Given the description of an element on the screen output the (x, y) to click on. 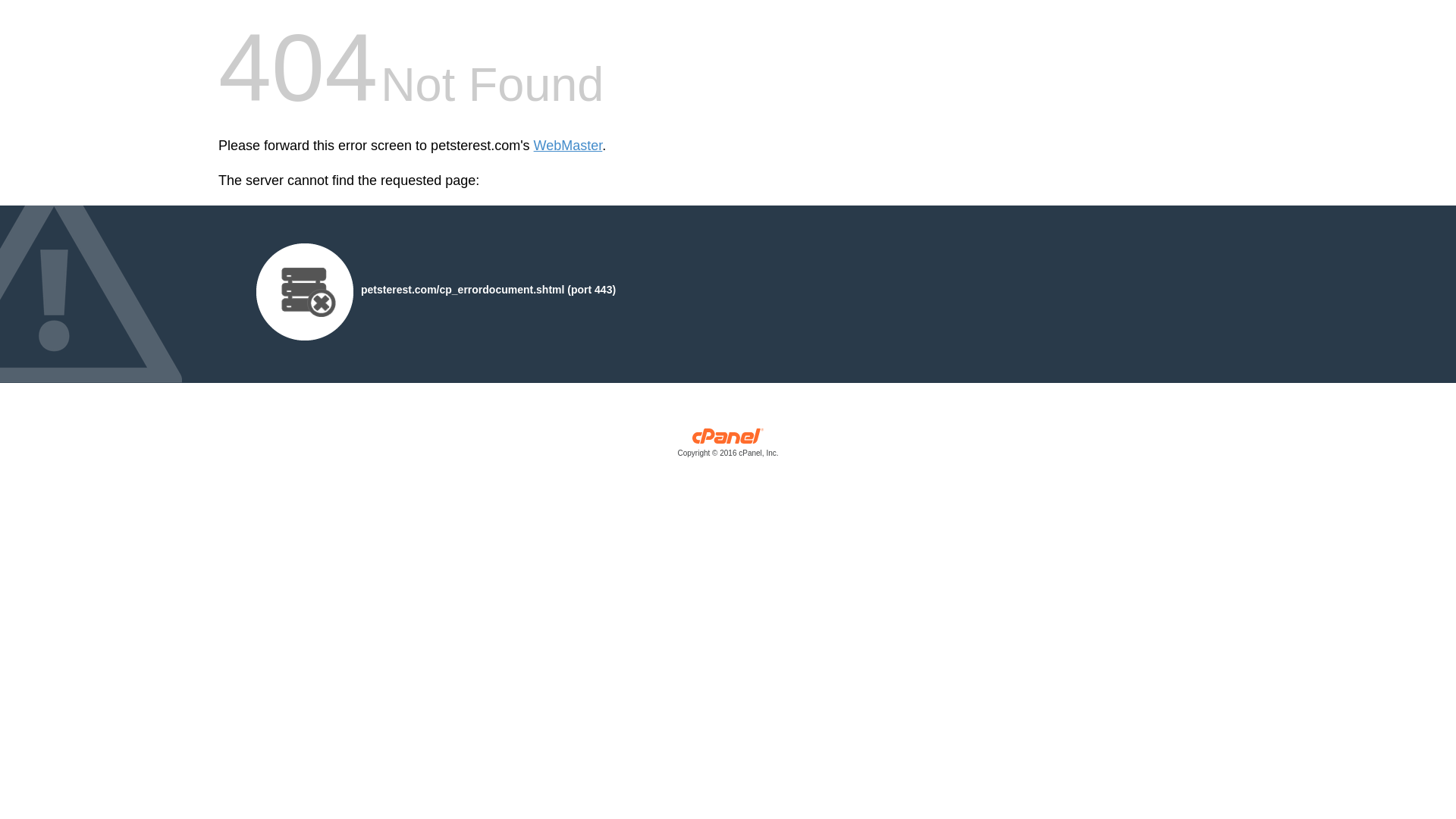
WebMaster (568, 145)
cPanel, Inc. (727, 446)
